Given the description of an element on the screen output the (x, y) to click on. 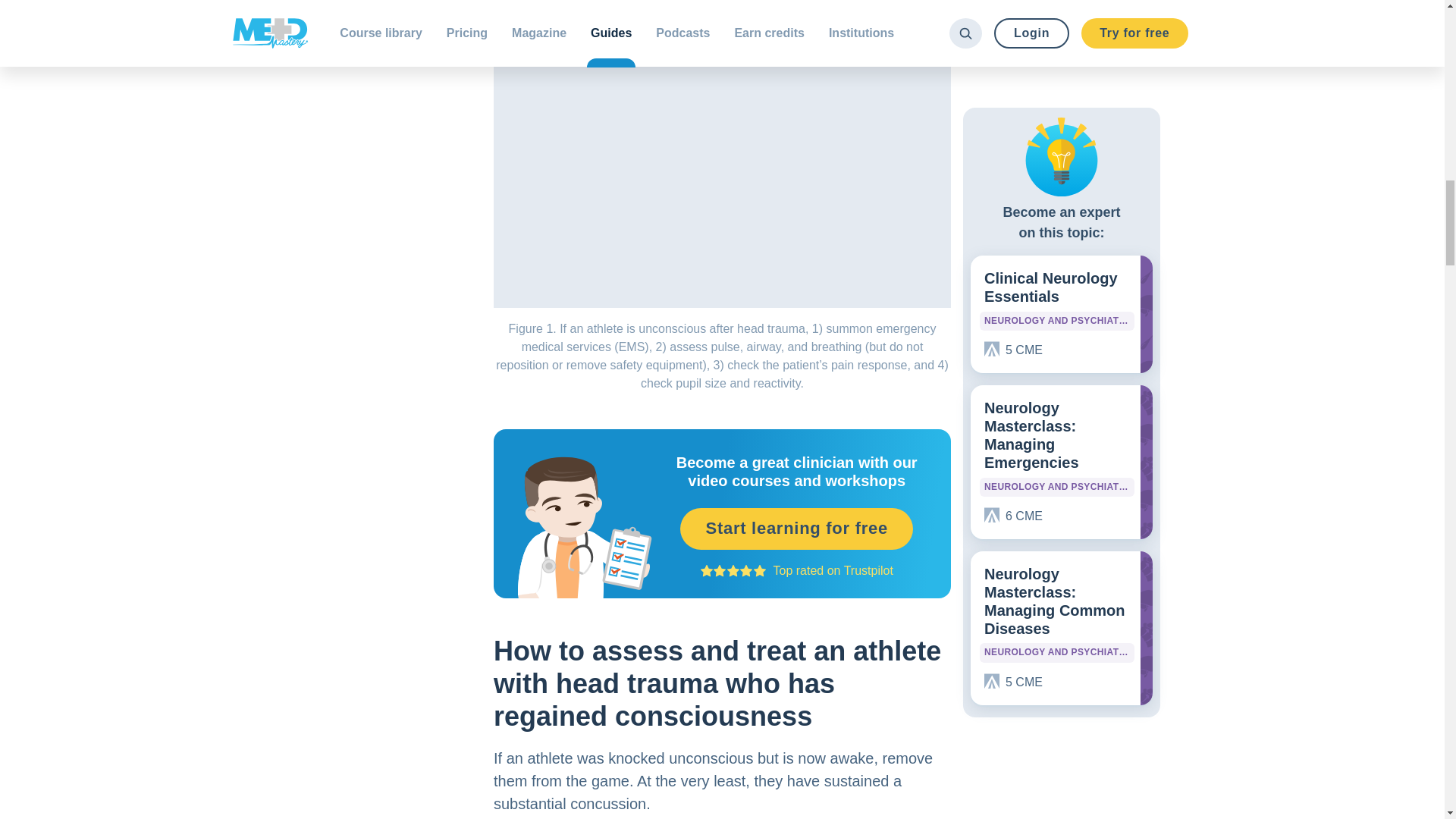
Top rated on Trustpilot (833, 570)
Start learning for free (795, 528)
